Given the description of an element on the screen output the (x, y) to click on. 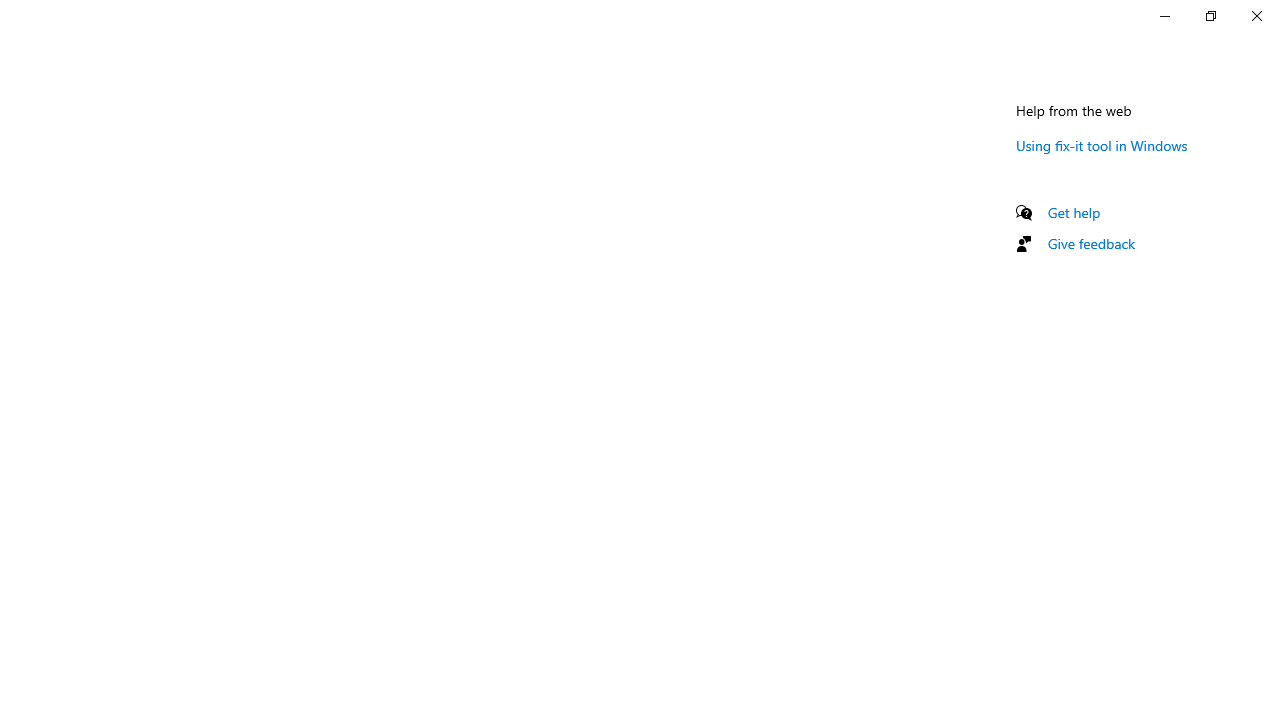
Using fix-it tool in Windows (1101, 145)
